Given the description of an element on the screen output the (x, y) to click on. 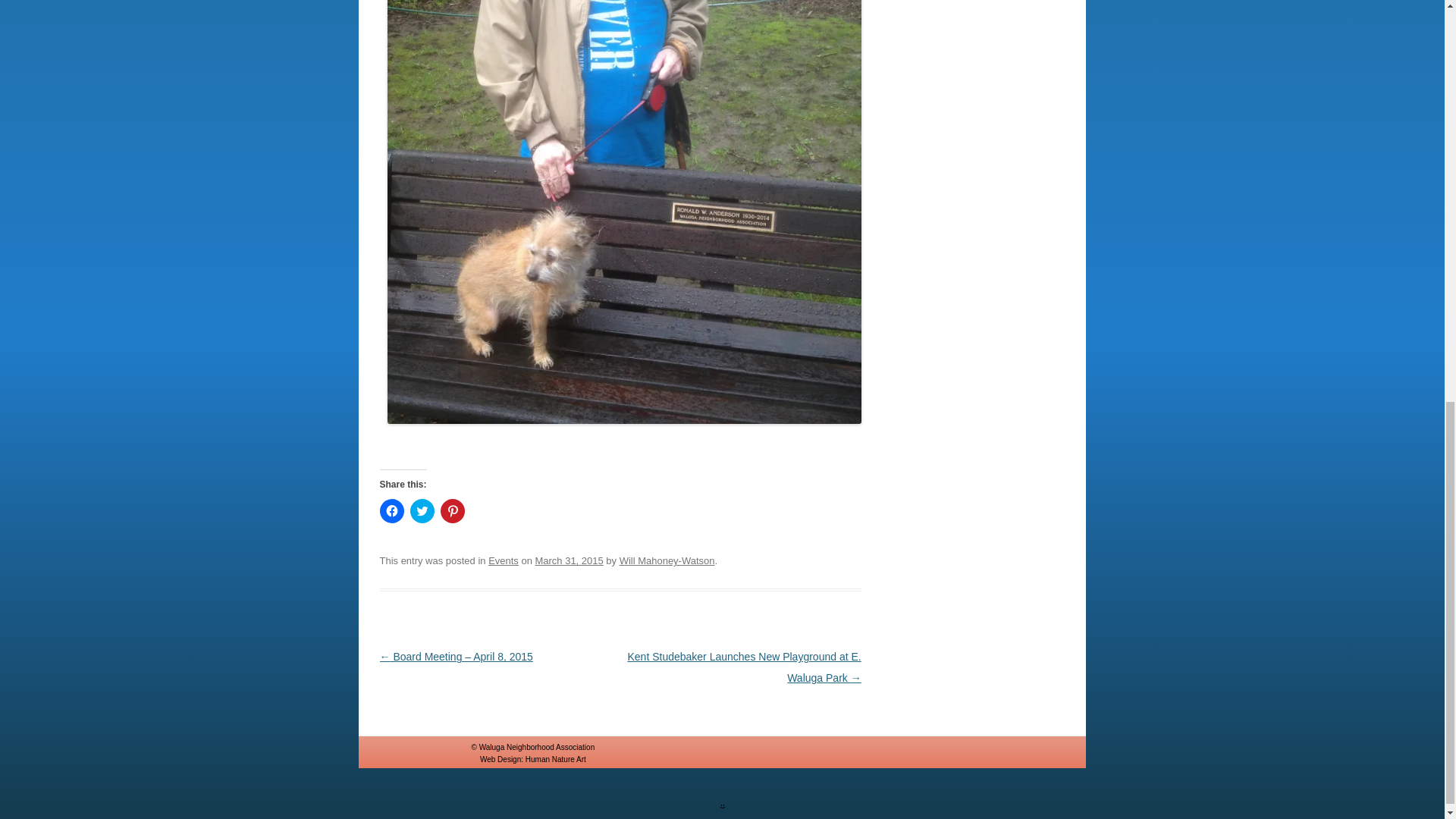
8:23 am (569, 560)
Click to share on Twitter (421, 510)
Click to share on Facebook (390, 510)
View all posts by Will Mahoney-Watson (667, 560)
Events (502, 560)
March 31, 2015 (569, 560)
Will Mahoney-Watson (667, 560)
Click to share on Pinterest (451, 510)
